Given the description of an element on the screen output the (x, y) to click on. 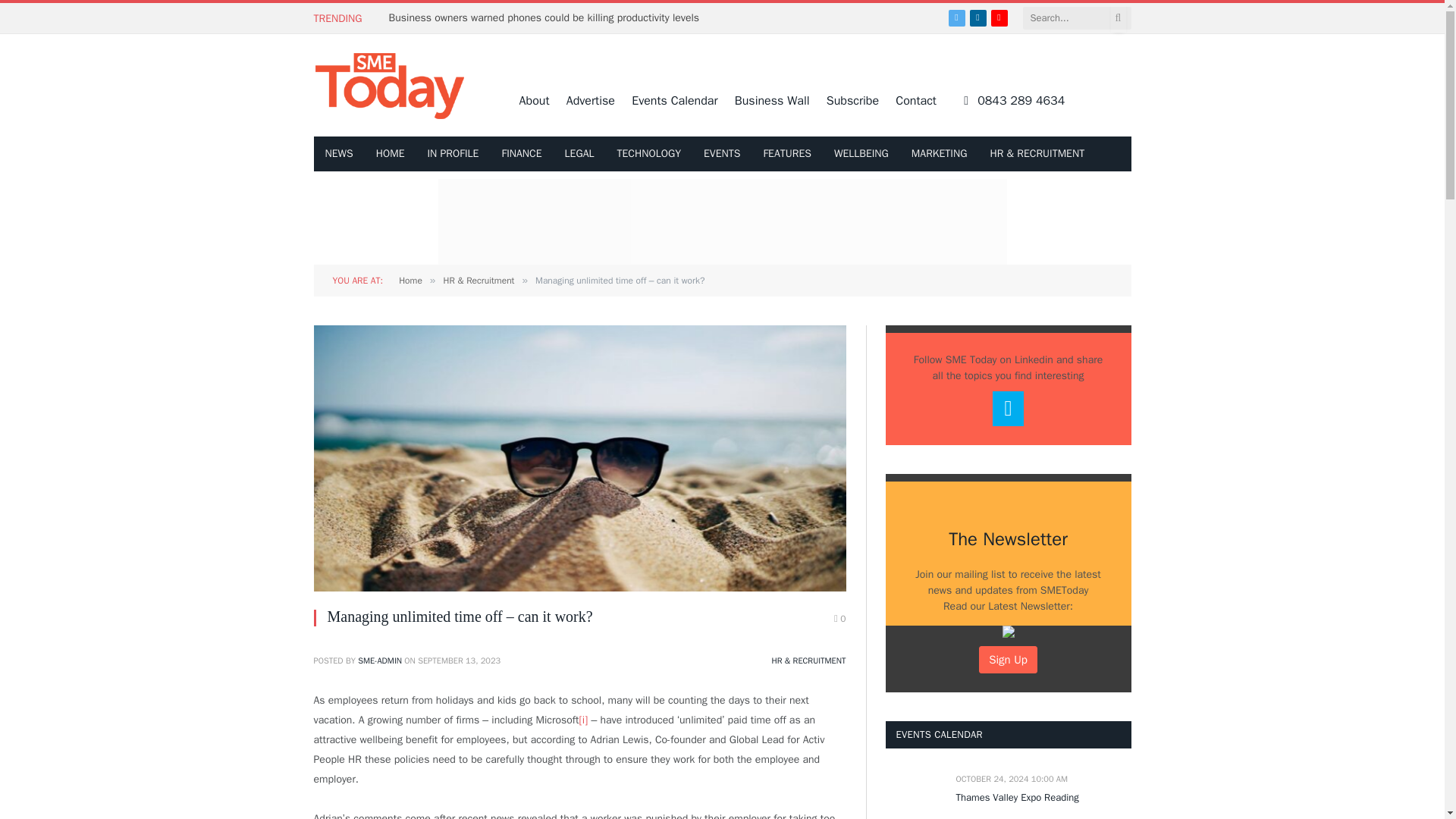
Advertise (590, 99)
2023-09-13 (458, 660)
About (534, 99)
Posts by sme-admin (379, 660)
LinkedIn (978, 17)
Subscribe (853, 99)
YouTube (999, 17)
SME Today (389, 85)
Events Calendar (674, 99)
Business Wall (772, 99)
